Given the description of an element on the screen output the (x, y) to click on. 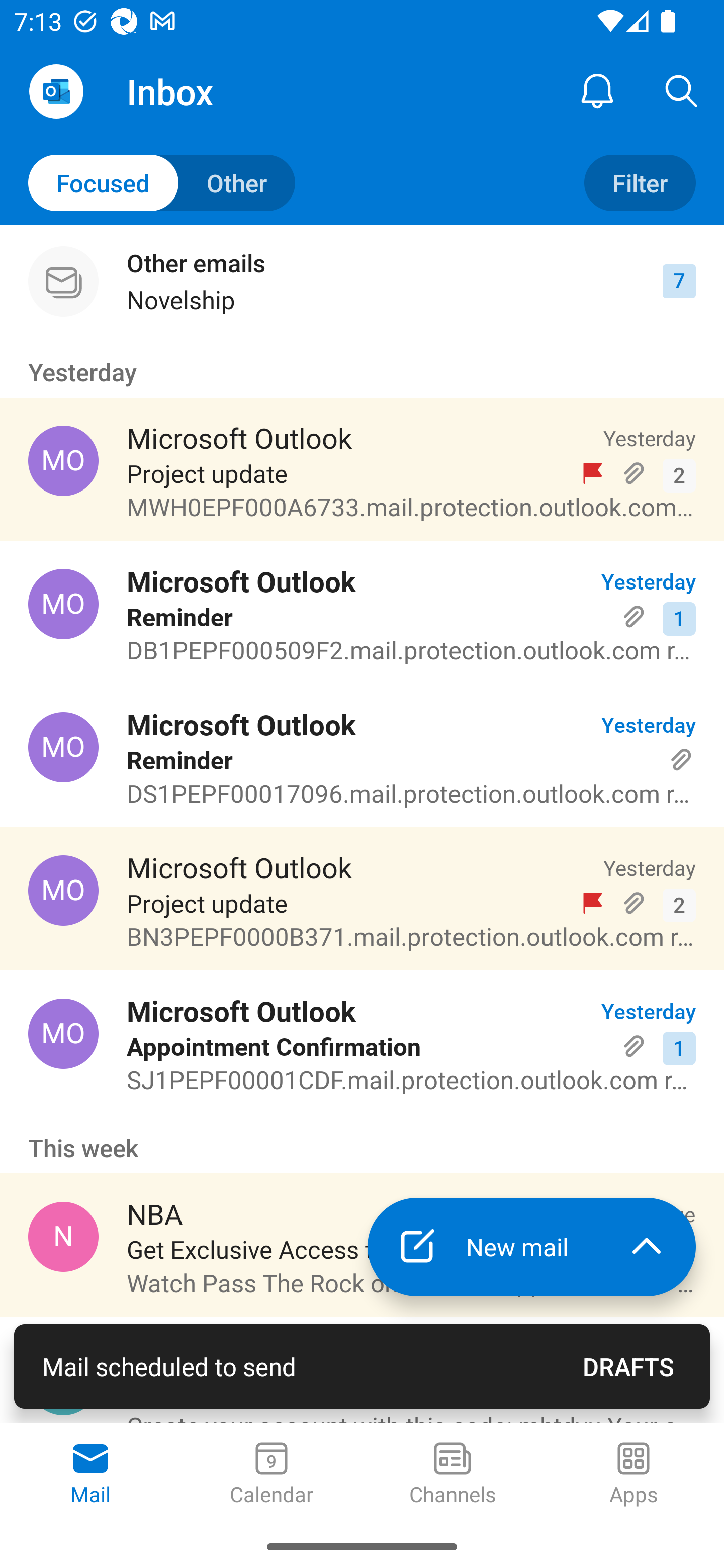
Notification Center (597, 90)
Search, ,  (681, 90)
Open Navigation Drawer (55, 91)
Toggle to other mails (161, 183)
Filter (639, 183)
Other emails Novelship 7 (362, 281)
New mail (481, 1246)
launch the extended action menu (646, 1246)
NBA, NBA@email.nba.com (63, 1236)
DRAFTS (628, 1366)
Calendar (271, 1474)
Channels (452, 1474)
Apps (633, 1474)
